Given the description of an element on the screen output the (x, y) to click on. 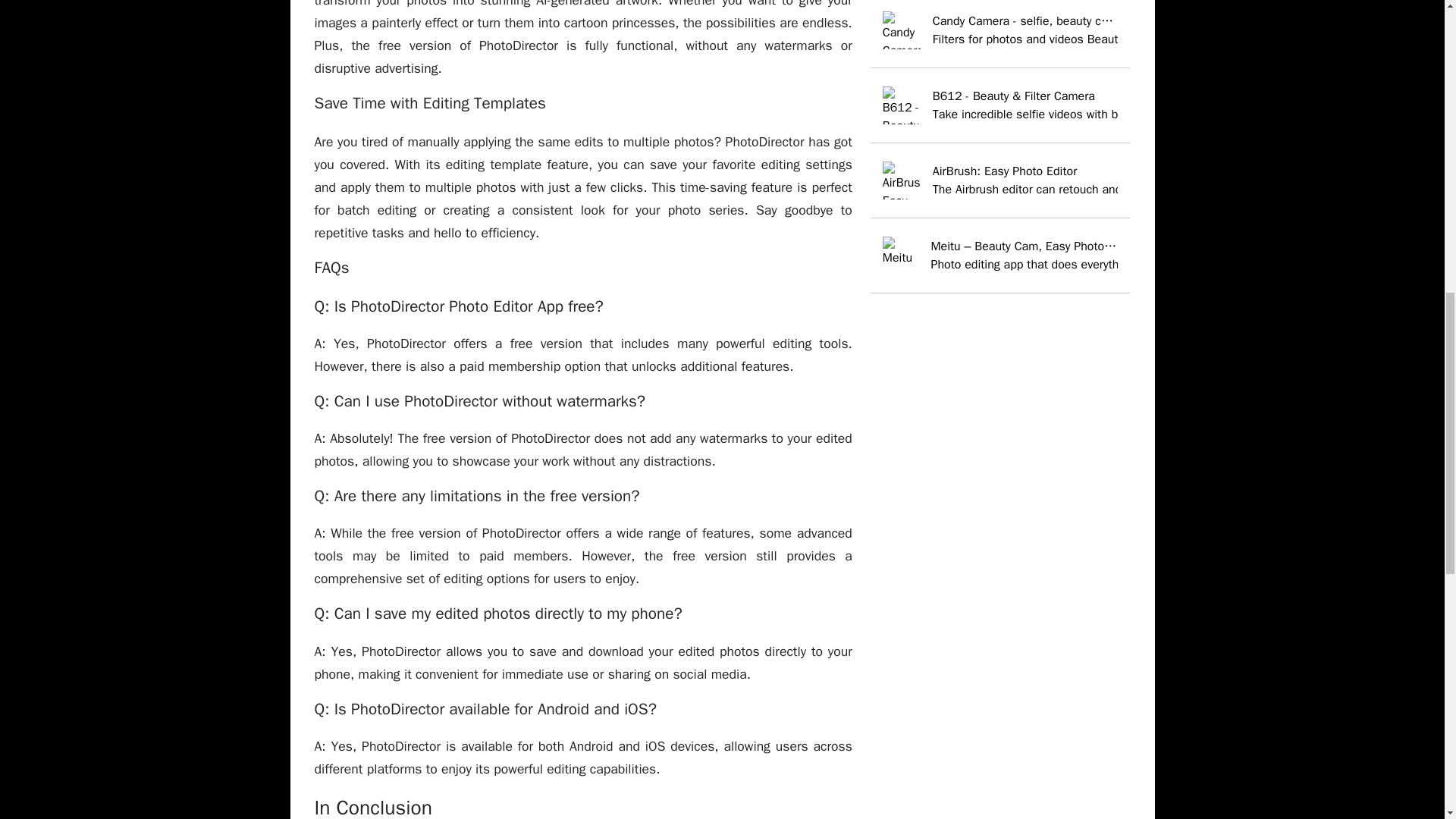
Candy Camera - selfie, beauty camera, photo editor for PC (1000, 30)
AirBrush: Easy Photo Editor for PC (1000, 180)
